Given the description of an element on the screen output the (x, y) to click on. 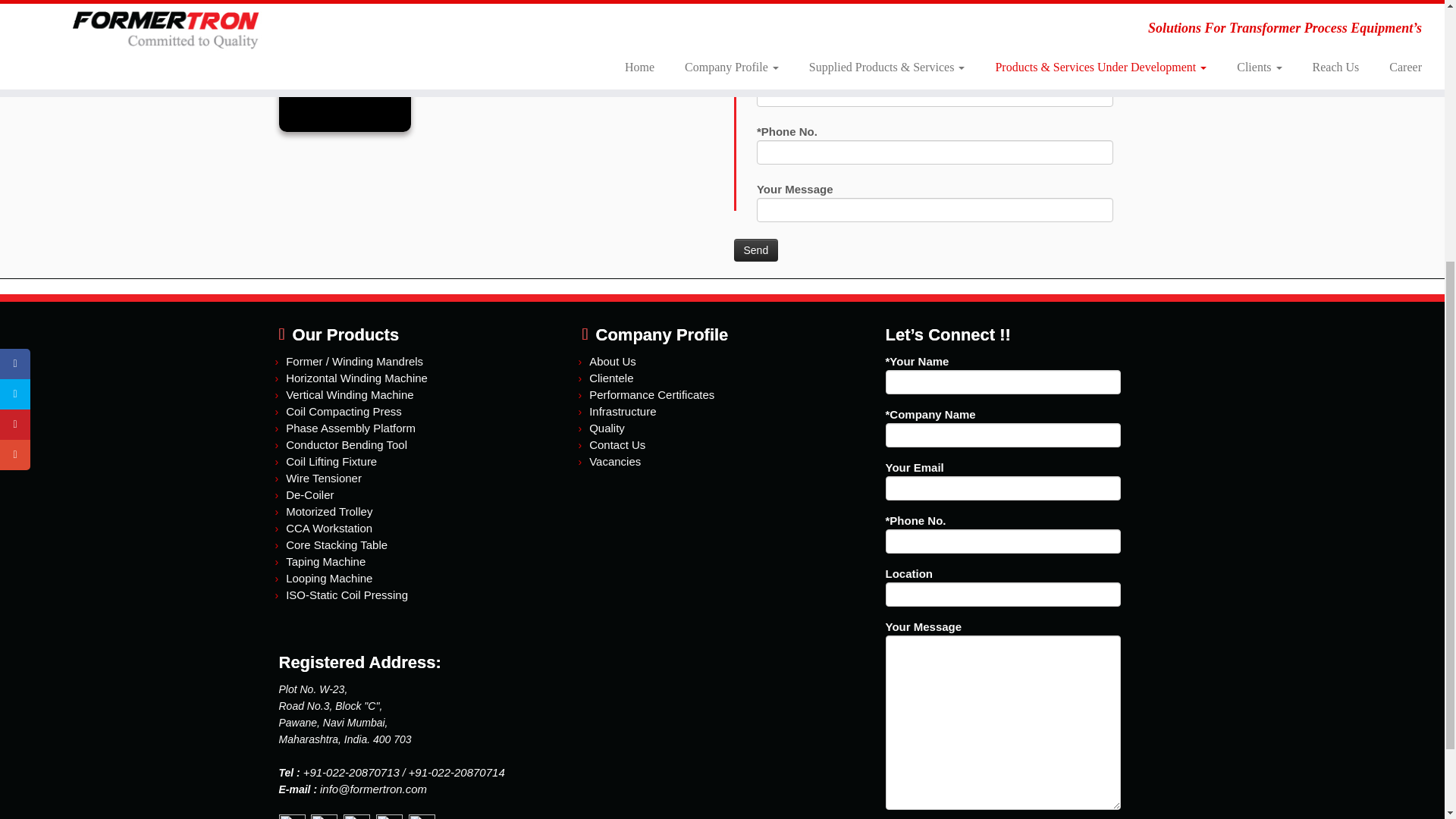
Send (755, 250)
fff (344, 73)
